Given the description of an element on the screen output the (x, y) to click on. 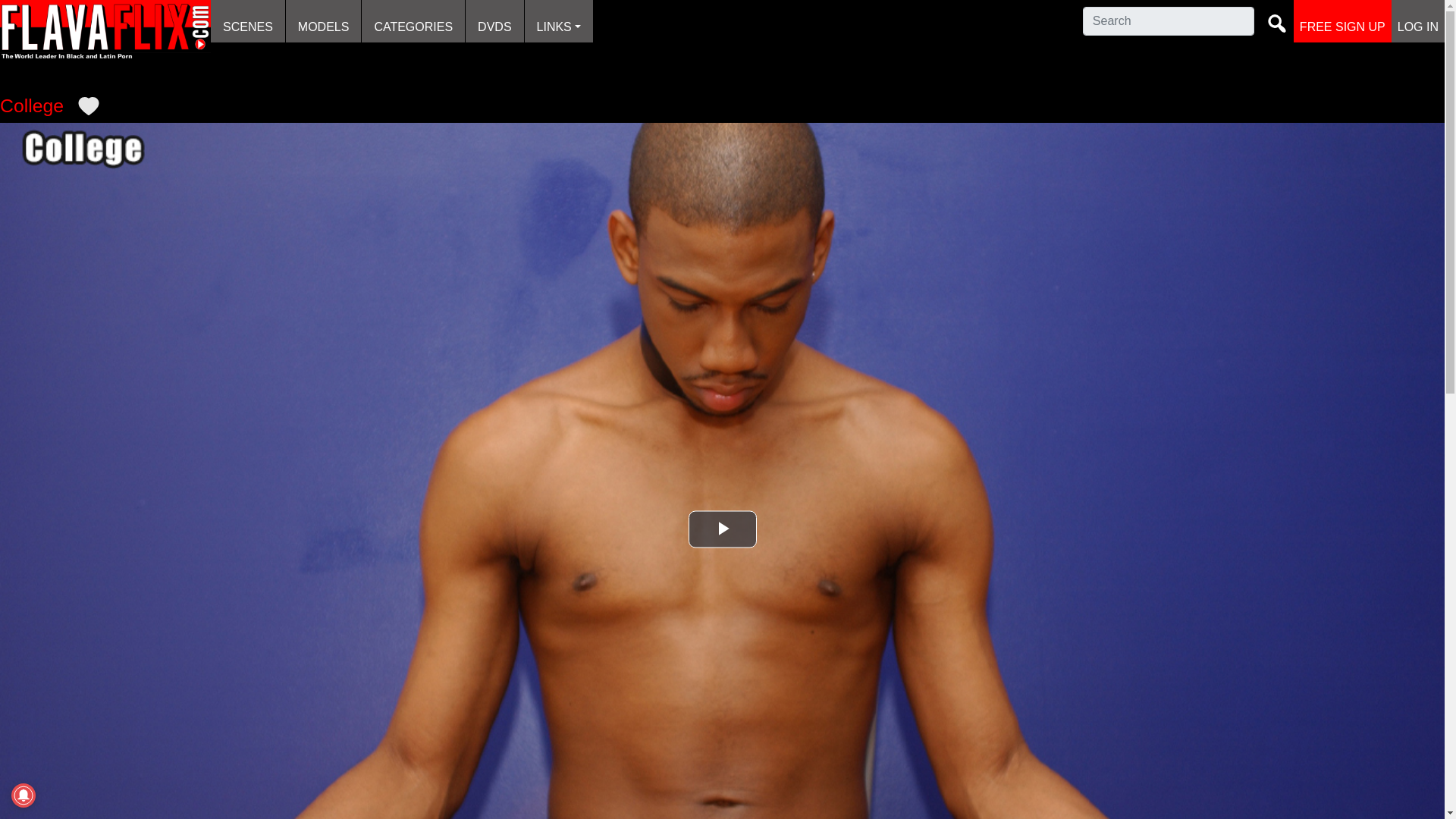
SCENES (248, 21)
DVDS (493, 21)
FREE SIGN UP (1342, 21)
CATEGORIES (412, 21)
Play Video (722, 528)
Play Video (722, 528)
MODELS (323, 21)
LINKS (558, 21)
